Given the description of an element on the screen output the (x, y) to click on. 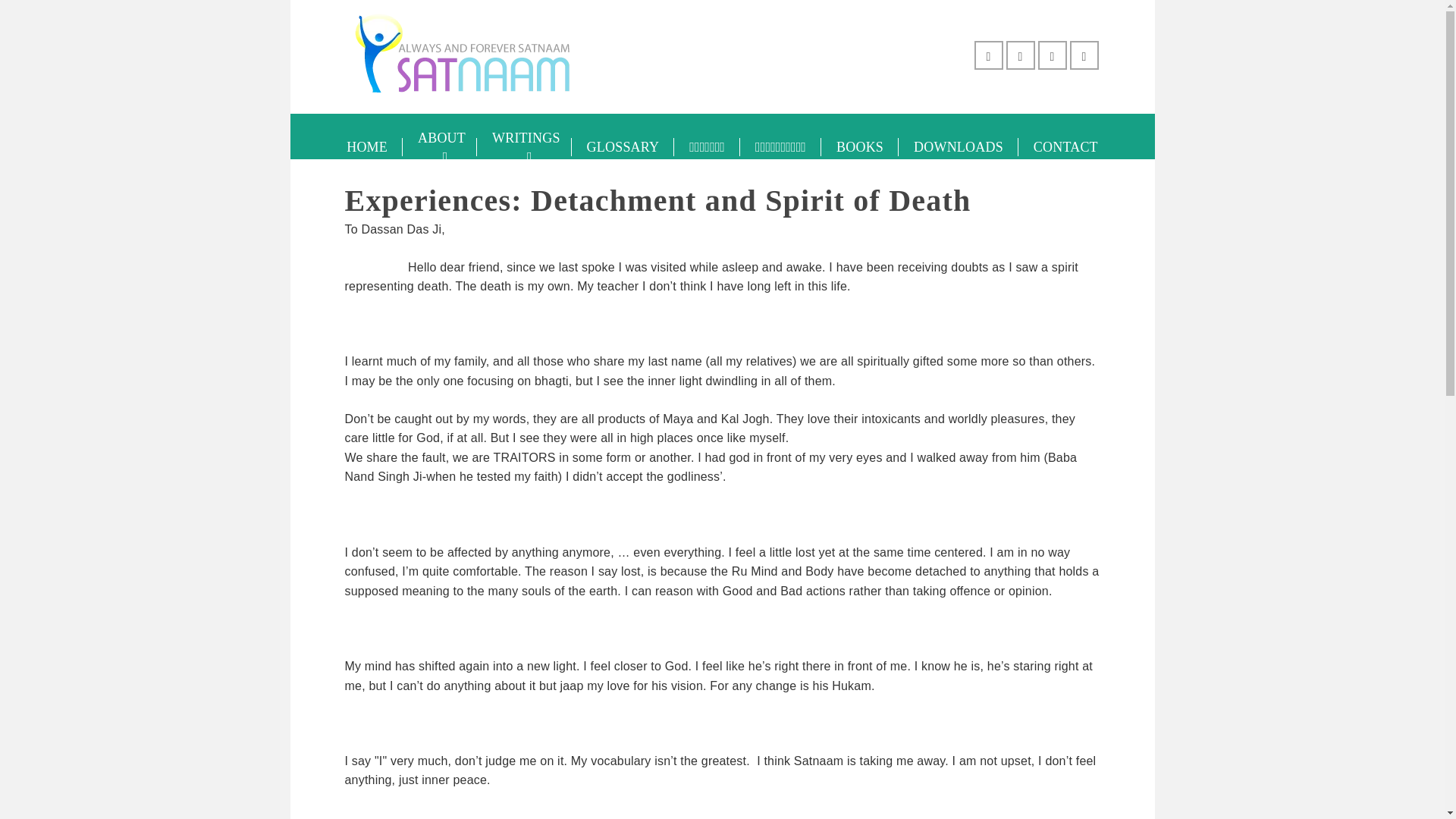
ABOUT (440, 146)
CONTACT (1065, 146)
GLOSSARY (623, 146)
BOOKS (859, 146)
HOME (367, 146)
WRITINGS (524, 146)
DOWNLOADS (957, 146)
